Given the description of an element on the screen output the (x, y) to click on. 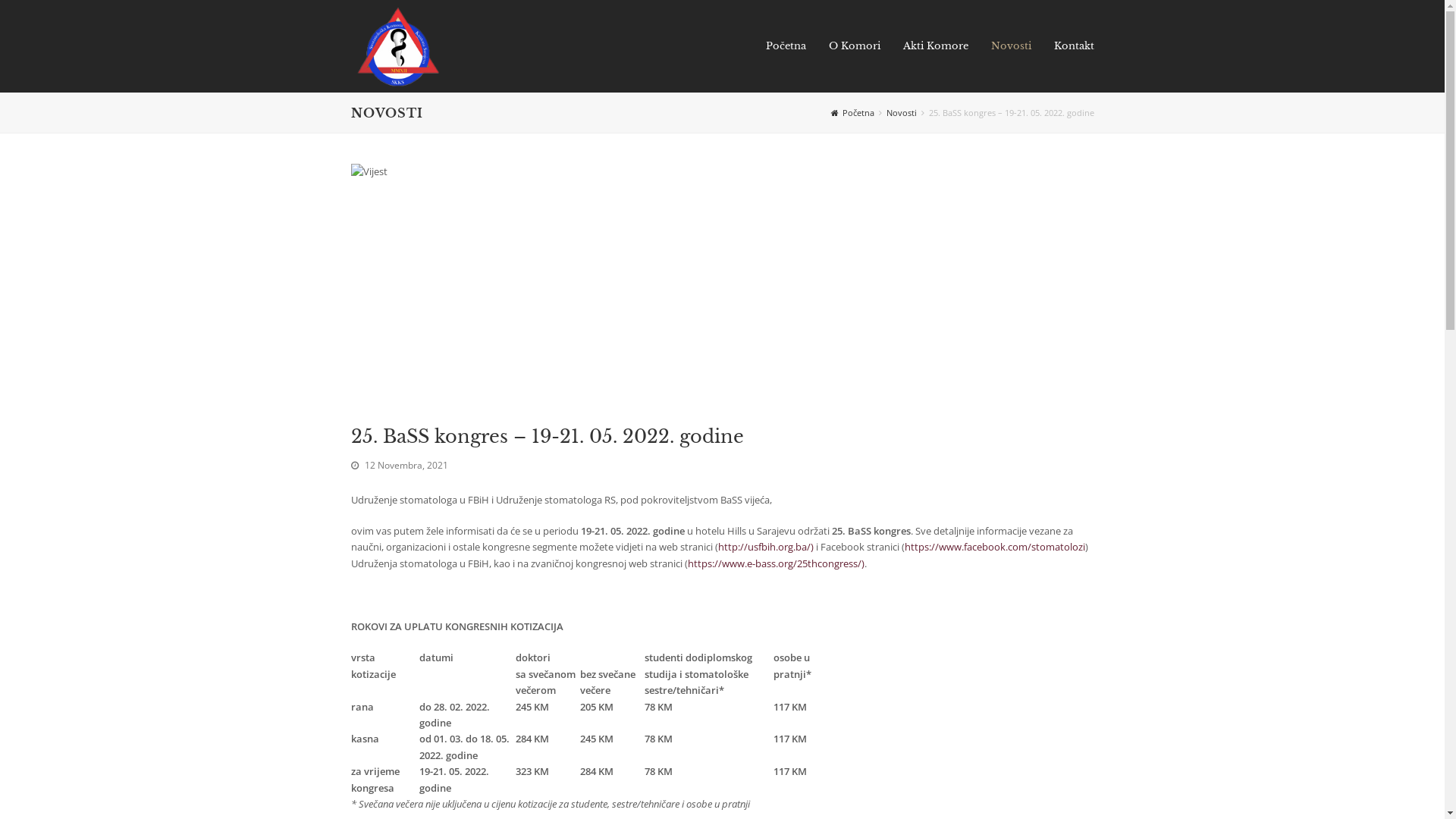
O Komori Element type: text (854, 46)
DACS Element type: hover (397, 44)
Akti Komore Element type: text (935, 46)
Novosti Element type: text (1010, 46)
Novosti Element type: text (900, 112)
http://usfbih.org.ba/) Element type: text (764, 546)
Kontakt Element type: text (1072, 46)
https://www.facebook.com/stomatolozi Element type: text (993, 546)
https://www.e-bass.org/25thcongress/) Element type: text (775, 563)
